Given the description of an element on the screen output the (x, y) to click on. 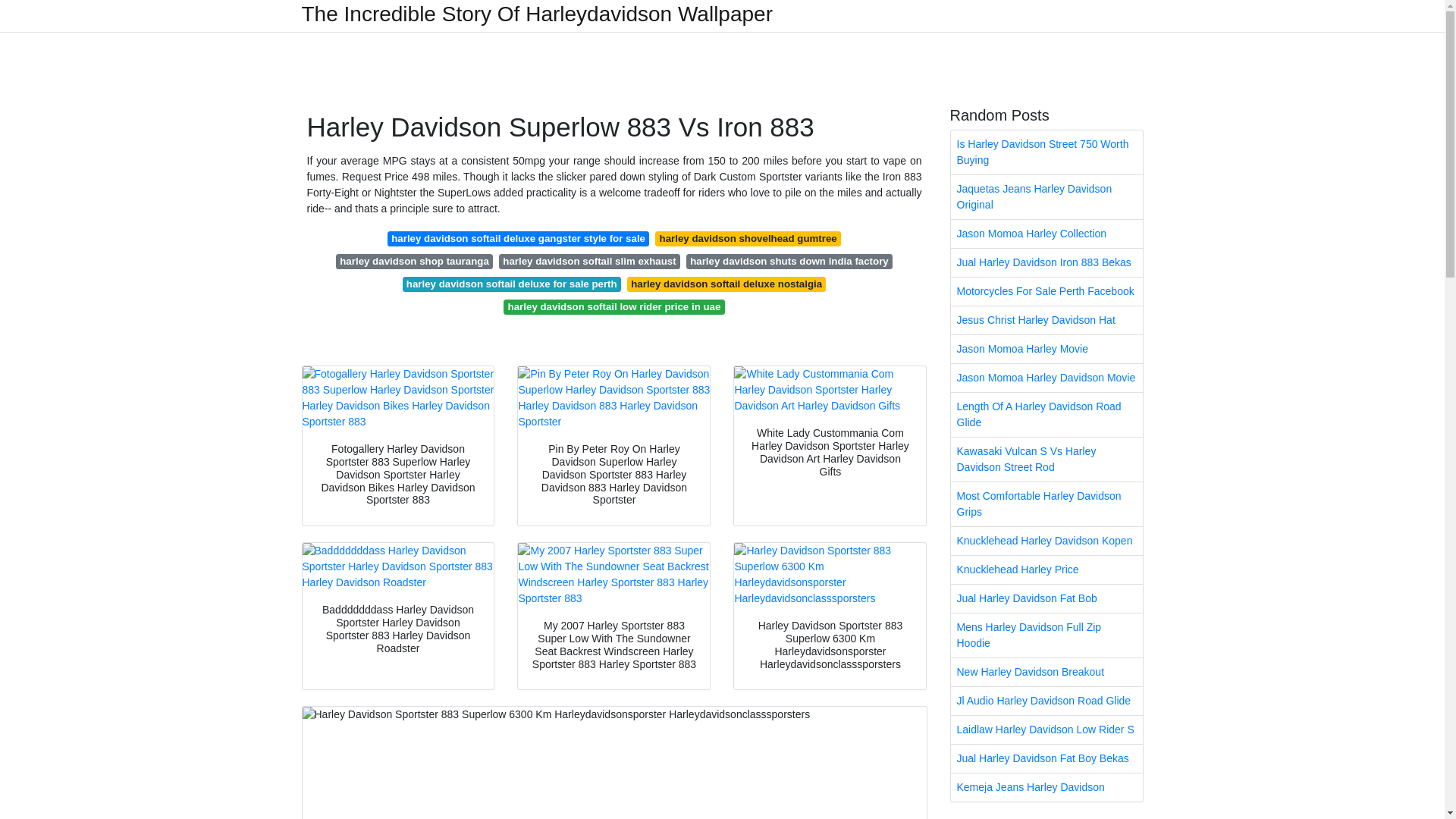
Jual Harley Davidson Iron 883 Bekas (1046, 262)
Is Harley Davidson Street 750 Worth Buying (1046, 152)
harley davidson softail deluxe for sale perth (512, 283)
harley davidson softail deluxe gangster style for sale (518, 238)
Jesus Christ Harley Davidson Hat (1046, 320)
harley davidson shuts down india factory (788, 261)
Length Of A Harley Davidson Road Glide (1046, 414)
Motorcycles For Sale Perth Facebook (1046, 291)
The Incredible Story Of Harleydavidson Wallpaper (537, 13)
Jaquetas Jeans Harley Davidson Original (1046, 197)
